Given the description of an element on the screen output the (x, y) to click on. 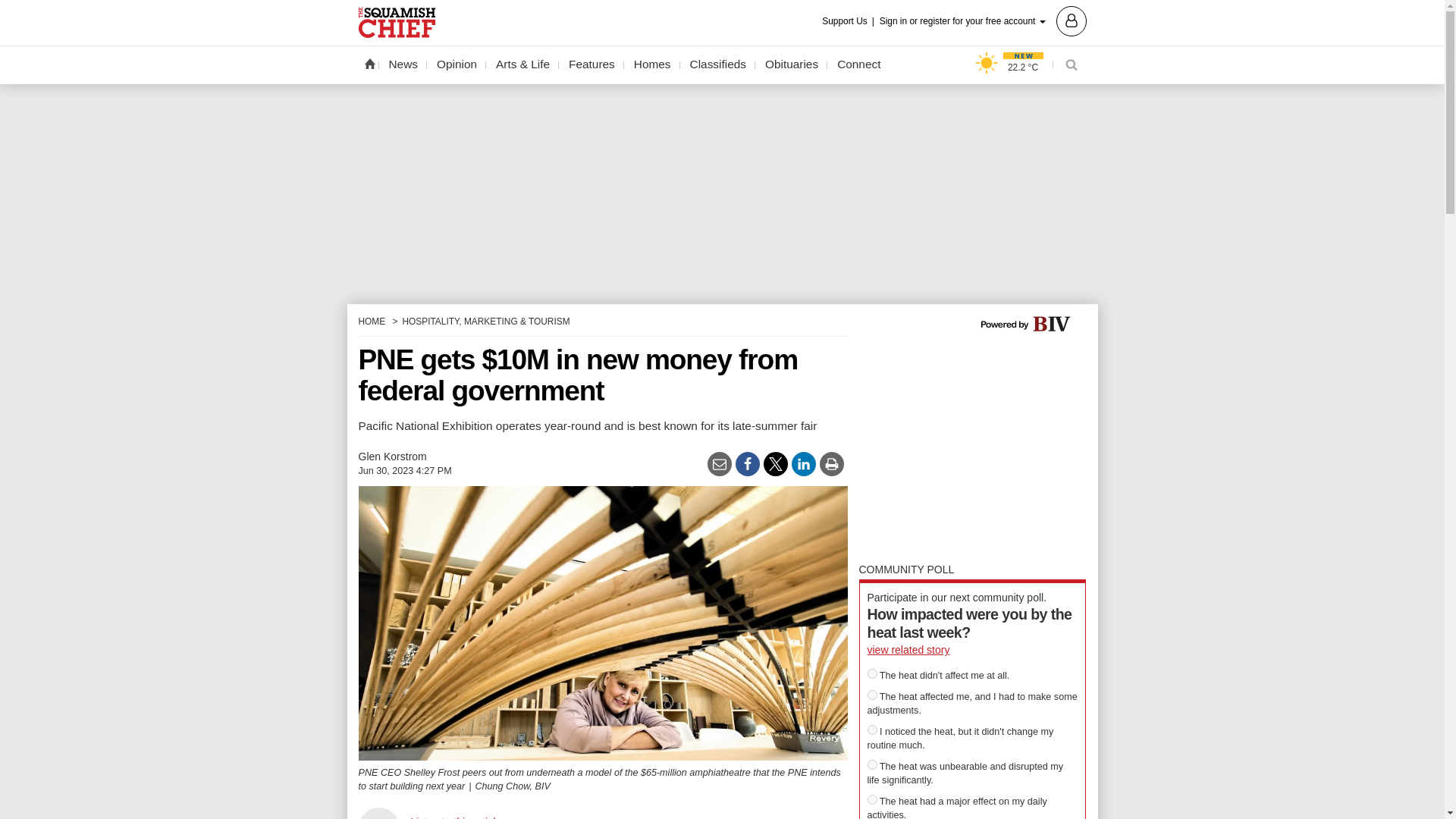
122598 (872, 673)
122599 (872, 729)
122601 (872, 799)
122600 (872, 695)
122602 (872, 764)
3rd party ad content (972, 453)
Home (368, 63)
Sign in or register for your free account (982, 20)
News (403, 64)
Opinion (456, 64)
Support Us (849, 21)
